Given the description of an element on the screen output the (x, y) to click on. 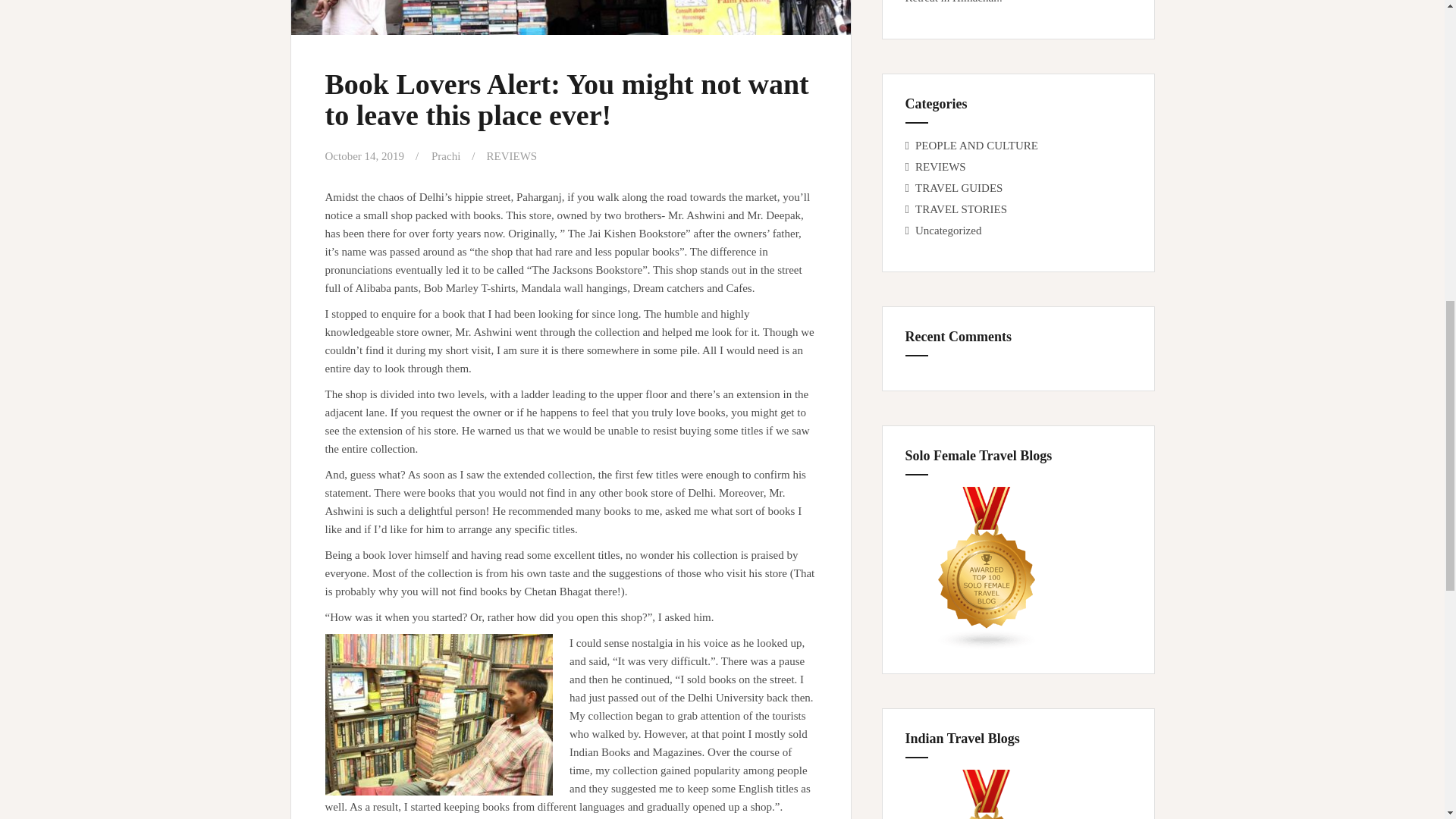
TRAVEL GUIDES (959, 187)
October 14, 2019 (364, 155)
Uncategorized (948, 230)
TRAVEL STORIES (961, 209)
REVIEWS (940, 166)
PEOPLE AND CULTURE (976, 145)
Chalo Chalo KALGA! My Two Month Sanity Retreat in Himachal.. (1015, 2)
REVIEWS (511, 155)
Solo Female Travel Blogs (986, 568)
Indian Travel Blogs (986, 794)
